Given the description of an element on the screen output the (x, y) to click on. 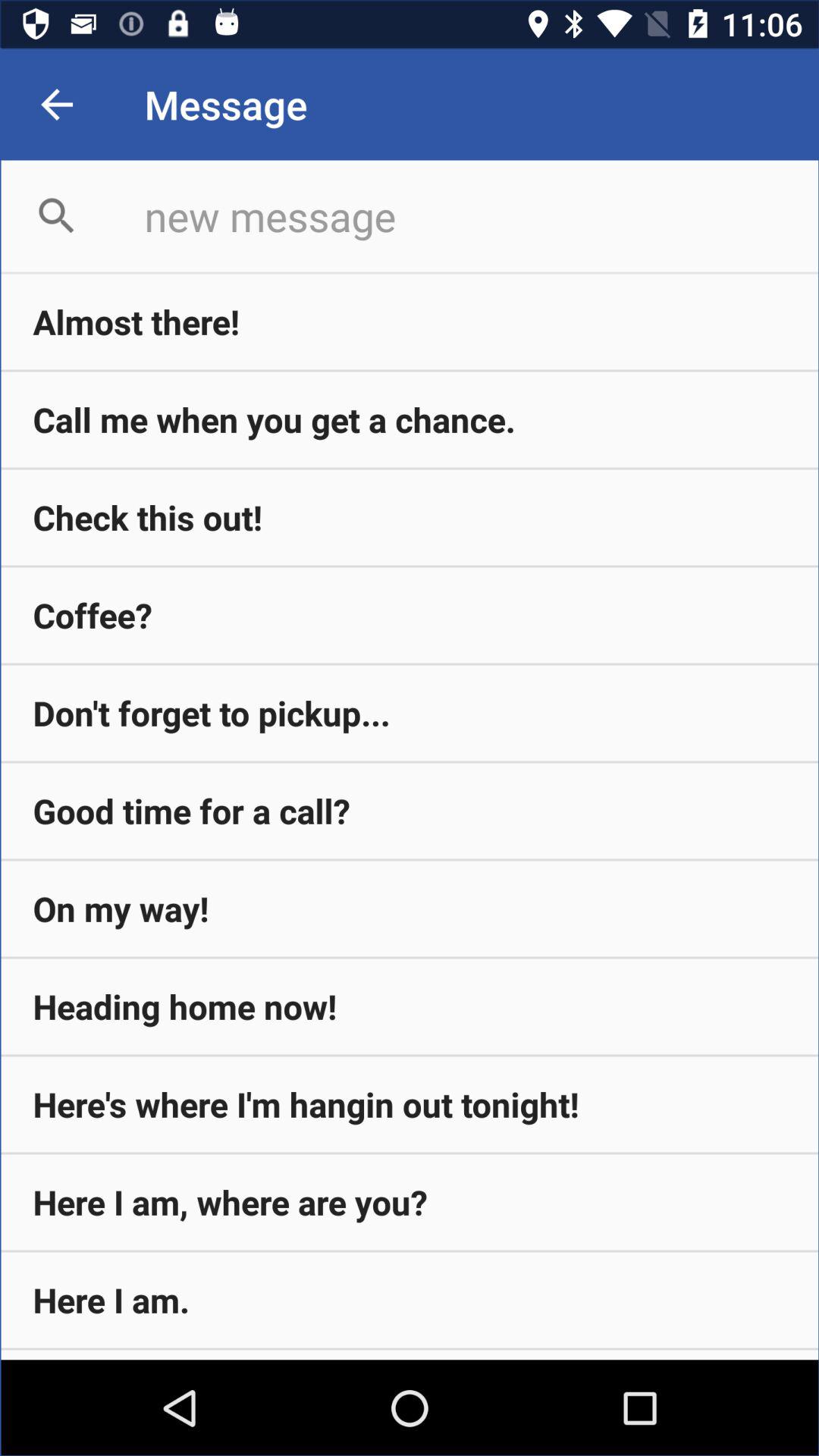
tap the icon above the coffee? icon (409, 517)
